Given the description of an element on the screen output the (x, y) to click on. 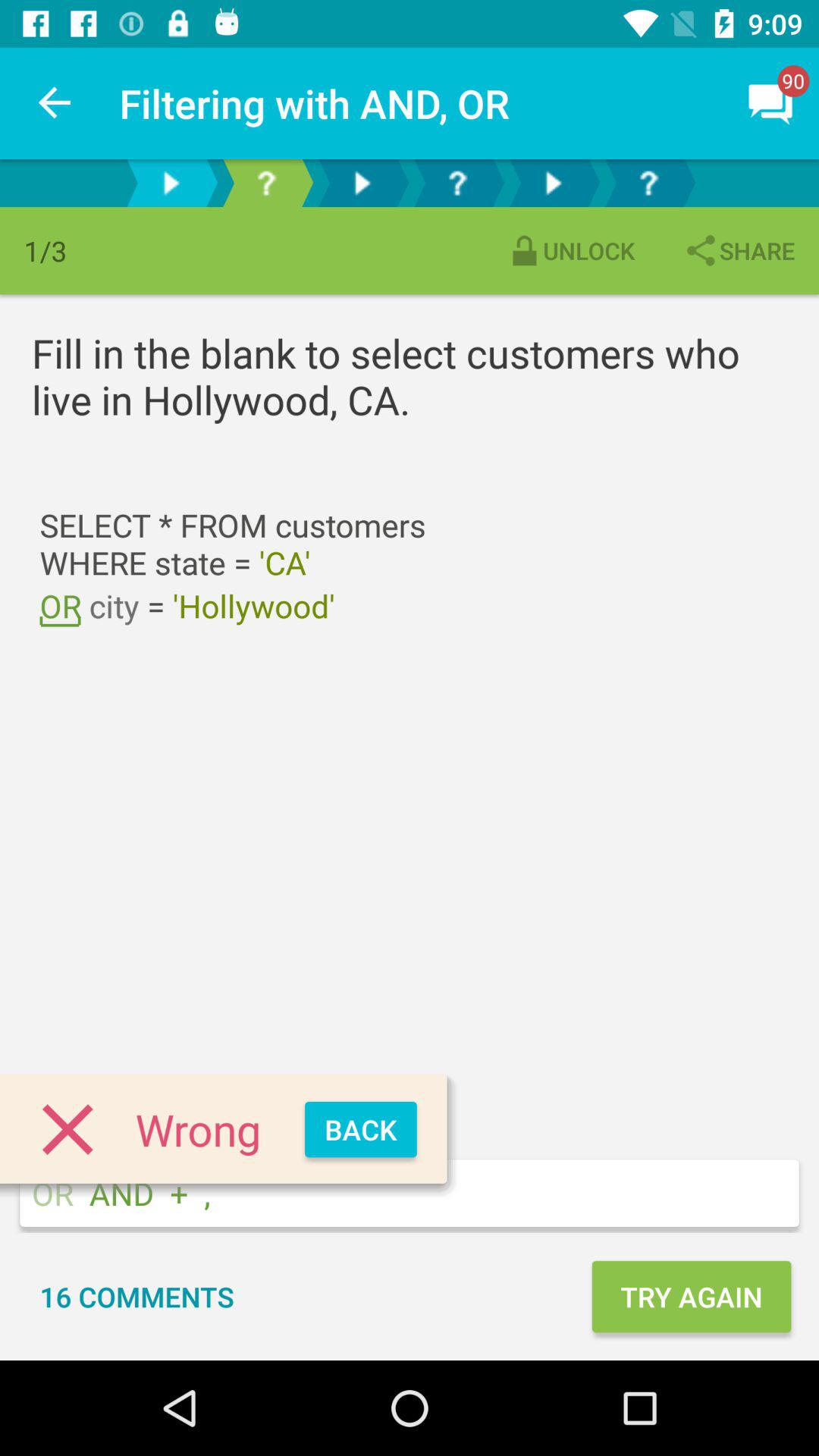
question tab (457, 183)
